Given the description of an element on the screen output the (x, y) to click on. 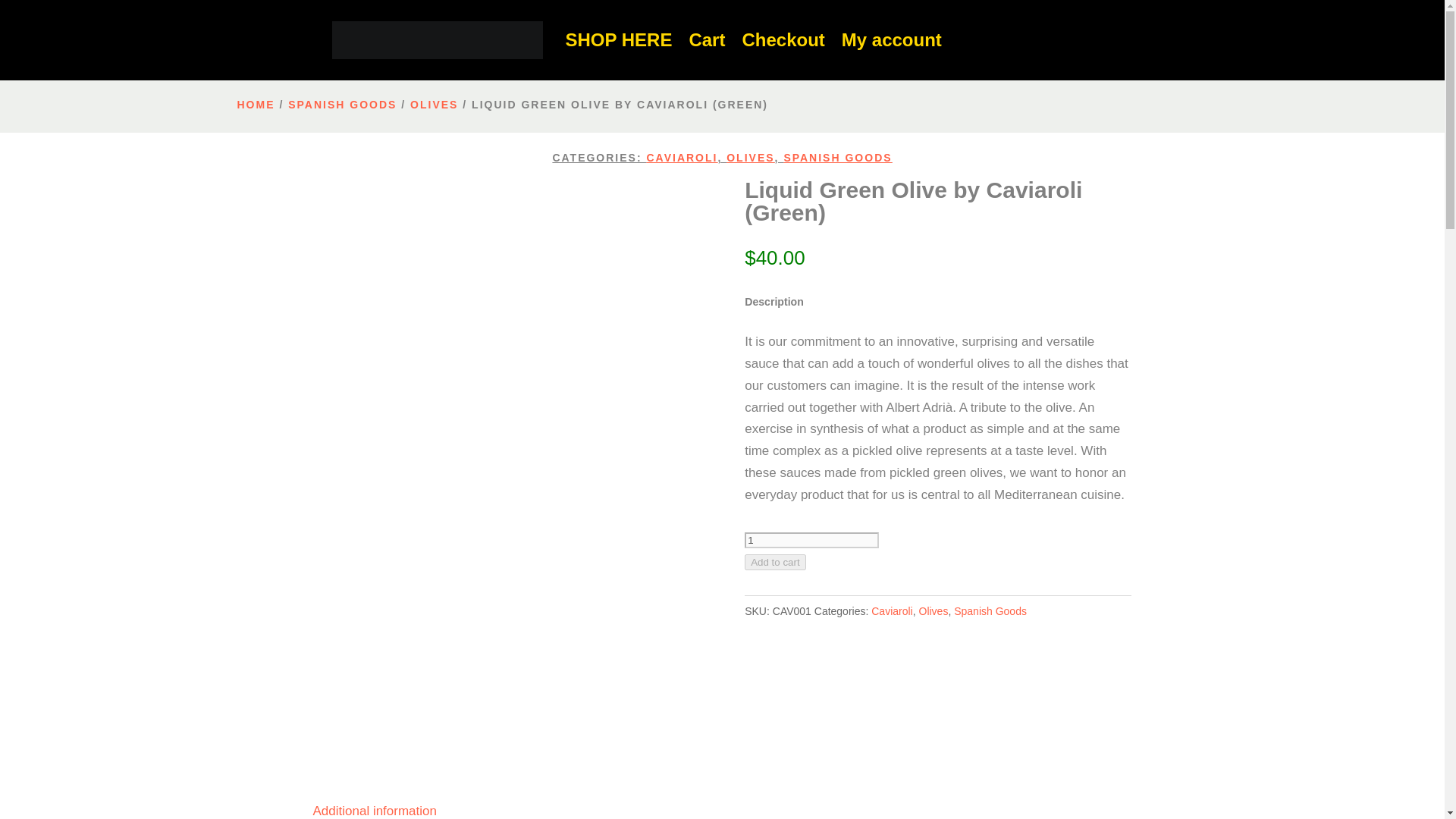
My account (891, 39)
OLIVES (750, 157)
1 (811, 539)
SHOP HERE (619, 39)
CAVIAROLI (681, 157)
Spanish Goods (989, 611)
SPANISH GOODS (342, 104)
HOME (255, 104)
Olives (933, 611)
Checkout (782, 39)
SPANISH GOODS (837, 157)
Caviaroli (891, 611)
Cart (706, 39)
Additional information (374, 810)
Add to cart (774, 562)
